Given the description of an element on the screen output the (x, y) to click on. 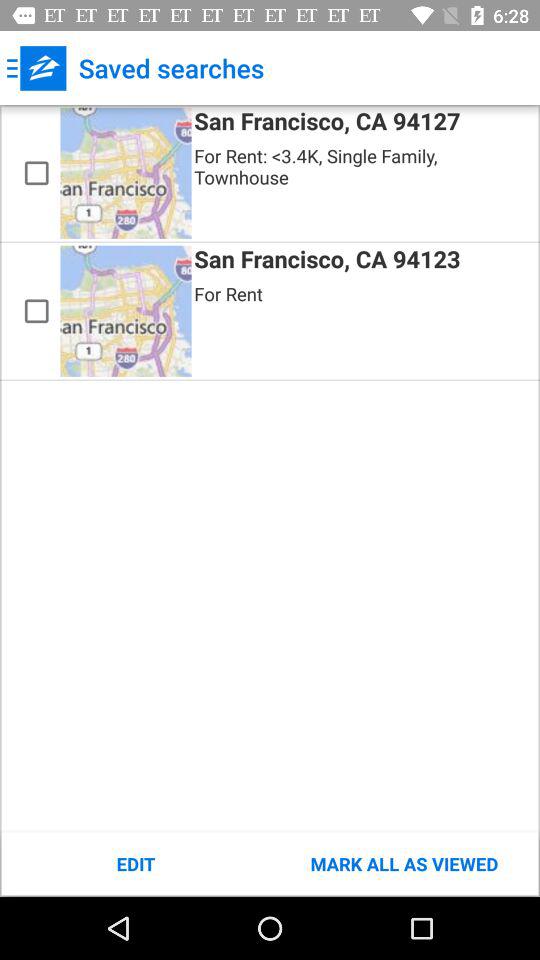
select san francisco (36, 311)
